Given the description of an element on the screen output the (x, y) to click on. 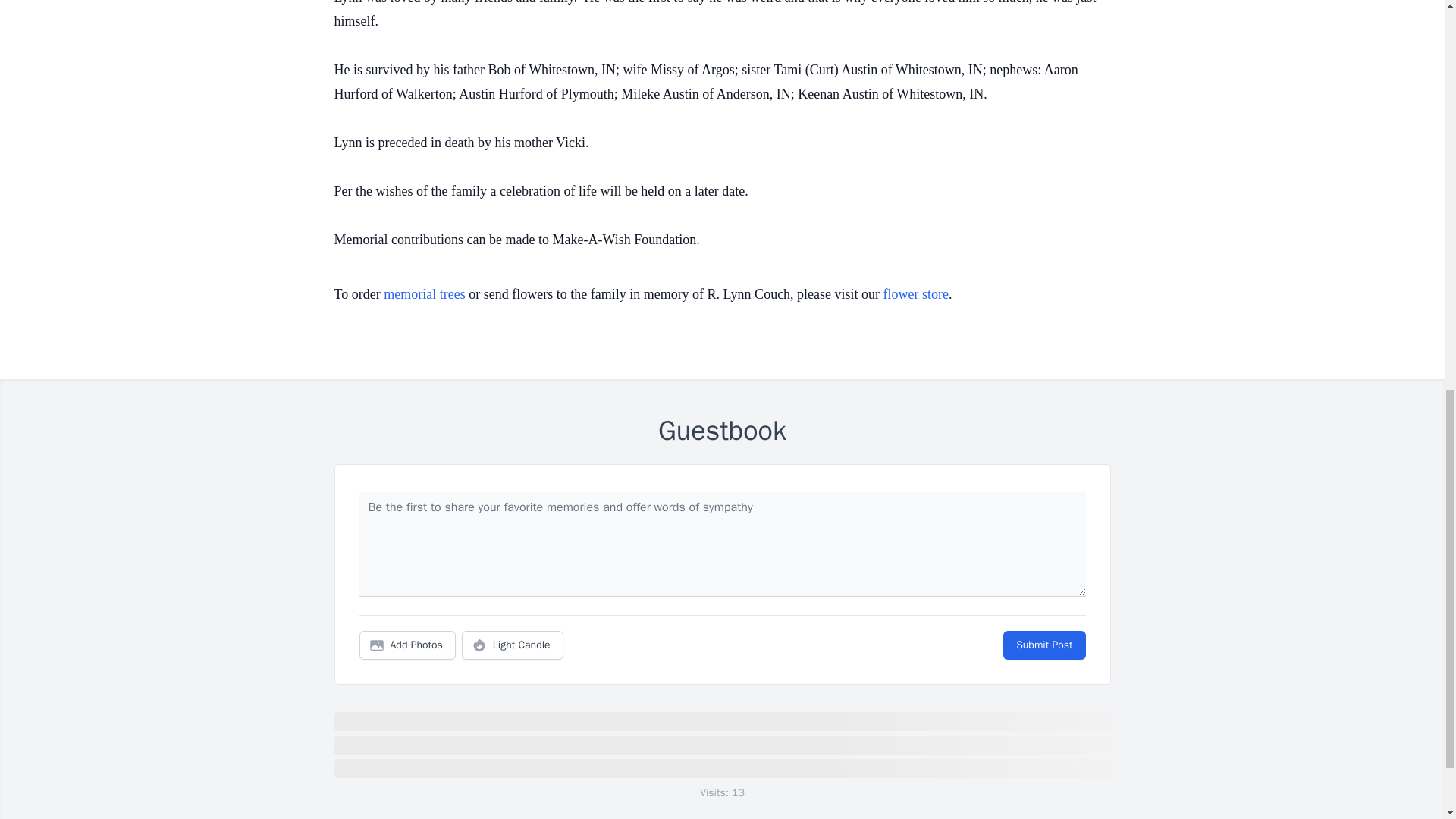
flower store (916, 294)
memorial trees (424, 294)
Add Photos (407, 645)
Light Candle (512, 645)
Submit Post (1043, 645)
